Given the description of an element on the screen output the (x, y) to click on. 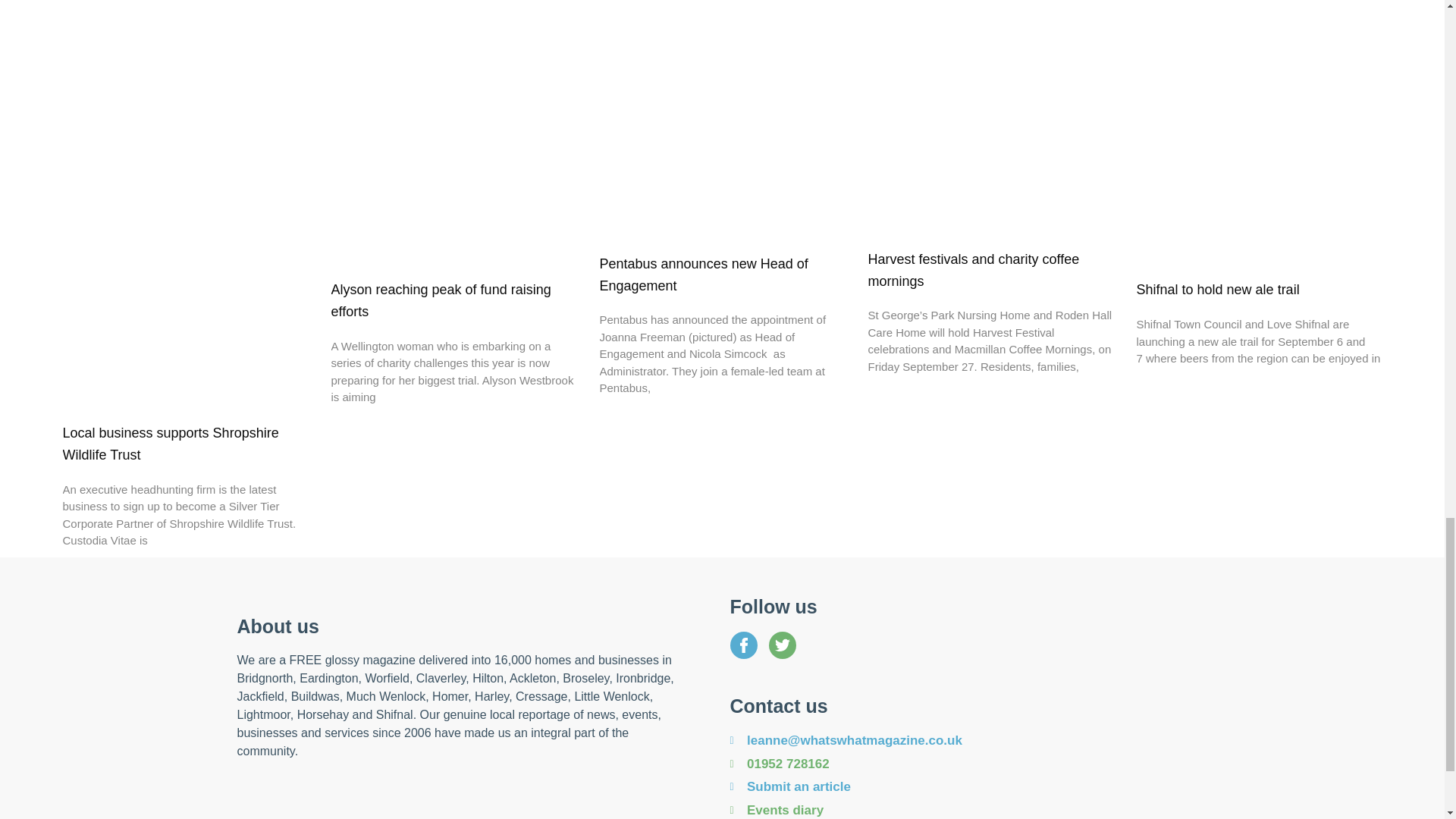
Submit an article (968, 786)
Pentabus announces new Head of Engagement (703, 274)
Local business supports Shropshire Wildlife Trust (170, 443)
Harvest festivals and charity coffee mornings (972, 270)
Alyson reaching peak of fund raising efforts (440, 300)
Shifnal to hold new ale trail (1216, 289)
01952 728162 (968, 763)
